Given the description of an element on the screen output the (x, y) to click on. 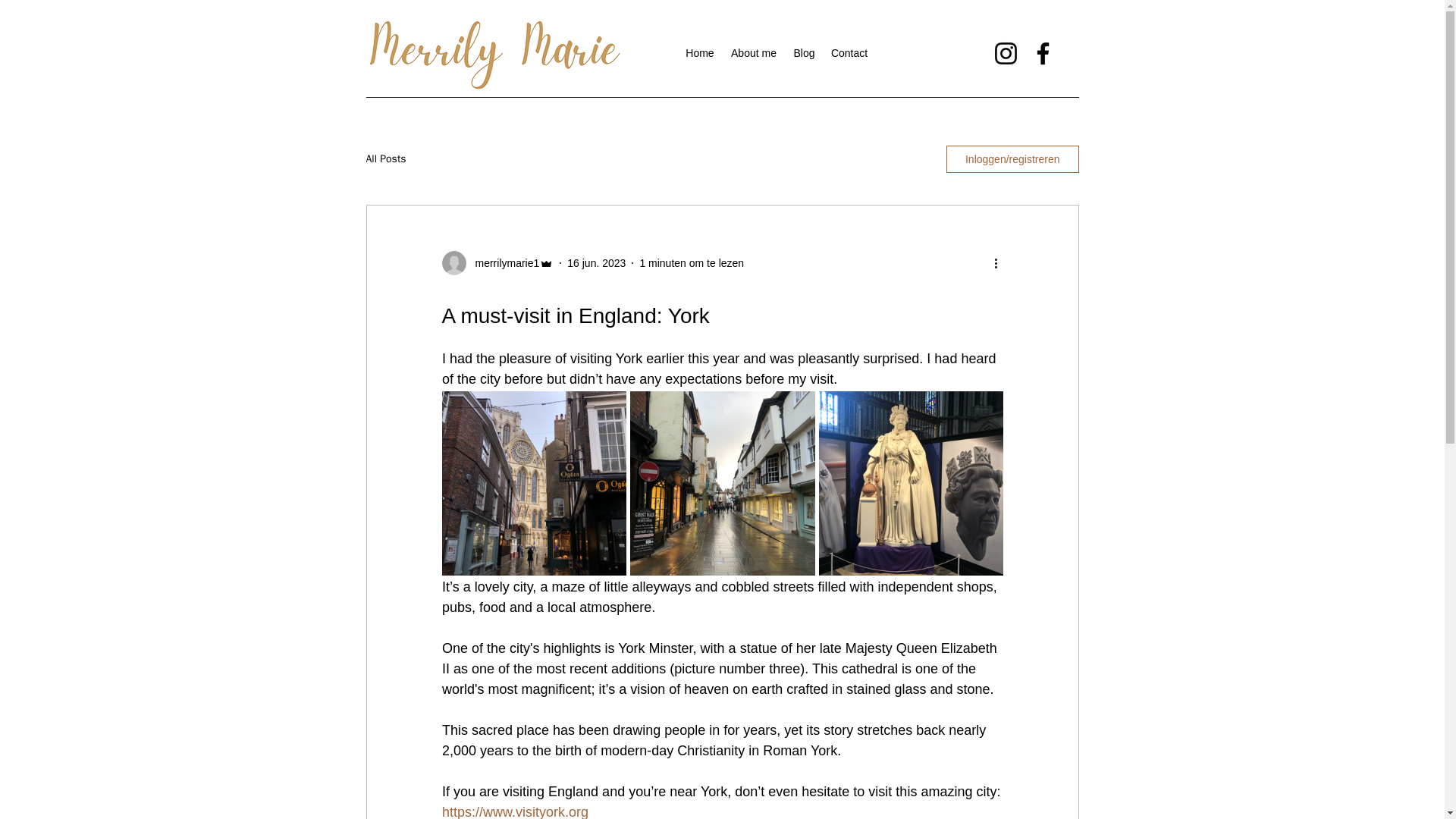
16 jun. 2023 (596, 262)
About me (754, 52)
1 minuten om te lezen (691, 262)
All Posts (385, 159)
Home (700, 52)
Contact (849, 52)
merrilymarie1 (501, 262)
Blog (804, 52)
